Given the description of an element on the screen output the (x, y) to click on. 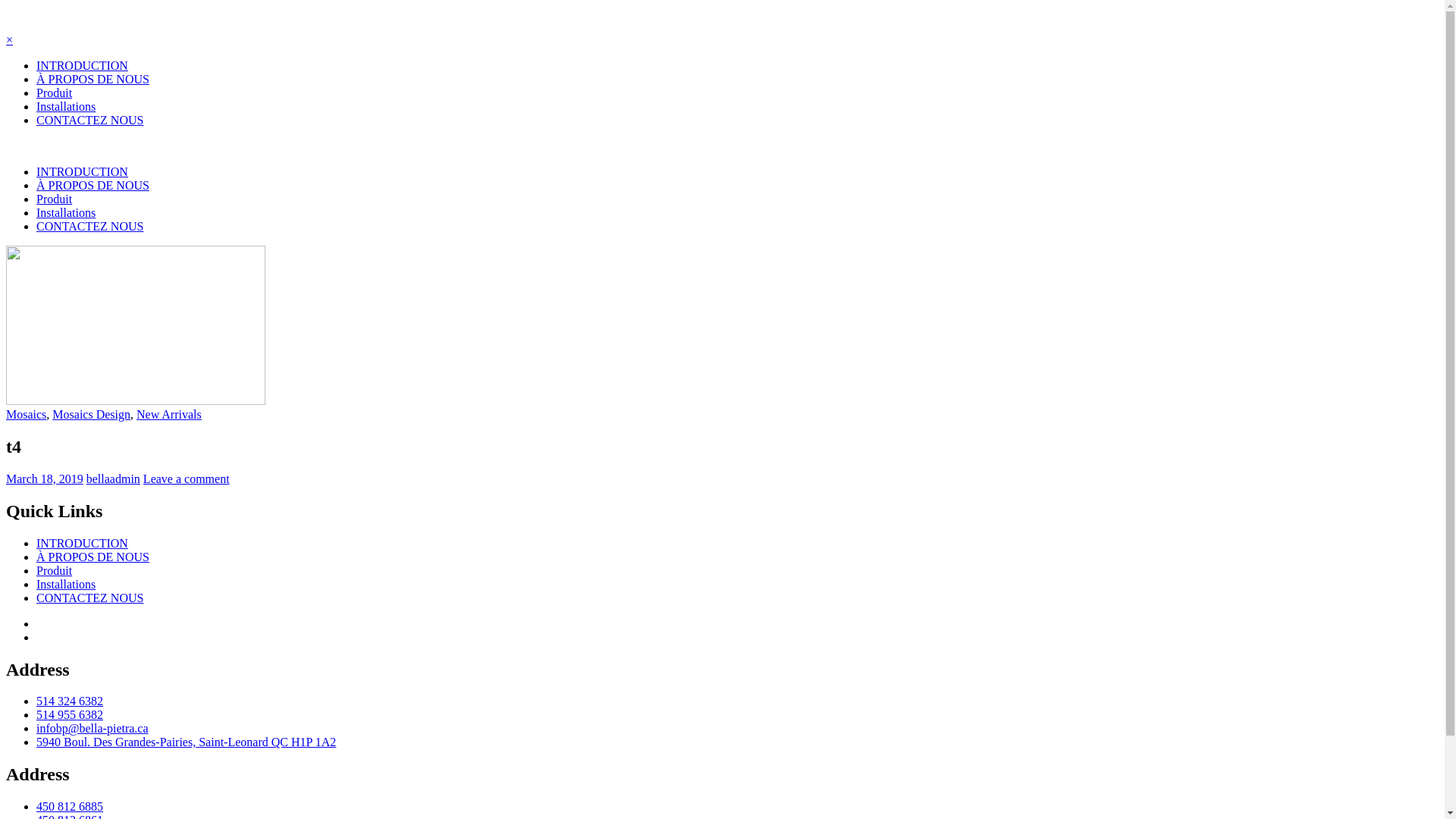
INTRODUCTION Element type: text (82, 171)
Mosaics Element type: text (26, 413)
Leave a comment Element type: text (186, 478)
CONTACTEZ NOUS Element type: text (89, 225)
Installations Element type: text (65, 583)
bellaadmin Element type: text (113, 478)
INTRODUCTION Element type: text (82, 65)
514 324 6382 Element type: text (69, 700)
450 812 6885 Element type: text (69, 806)
March 18, 2019 Element type: text (44, 478)
5940 Boul. Des Grandes-Pairies, Saint-Leonard QC H1P 1A2 Element type: text (185, 741)
CONTACTEZ NOUS Element type: text (89, 597)
New Arrivals Element type: text (168, 413)
Produit Element type: text (54, 92)
INTRODUCTION Element type: text (82, 542)
Installations Element type: text (65, 212)
Produit Element type: text (54, 198)
514 955 6382 Element type: text (69, 714)
Installations Element type: text (65, 106)
infobp@bella-pietra.ca Element type: text (92, 727)
CONTACTEZ NOUS Element type: text (89, 119)
Produit Element type: text (54, 570)
Mosaics Design Element type: text (91, 413)
